Given the description of an element on the screen output the (x, y) to click on. 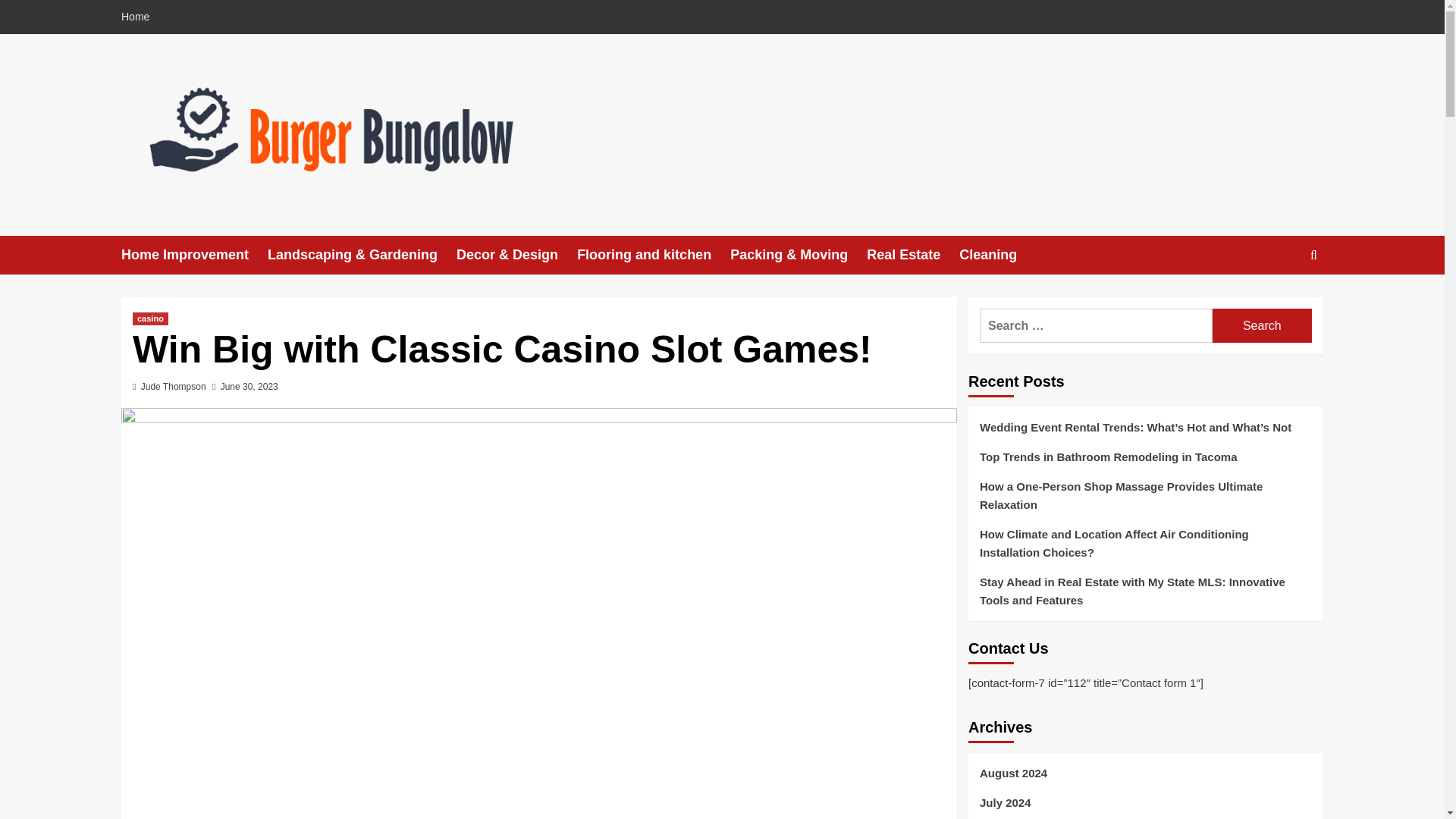
Search (1261, 325)
June 30, 2023 (249, 386)
Search (1261, 325)
Home (138, 17)
Search (1278, 302)
Search (1261, 325)
casino (150, 318)
Home Improvement (193, 254)
Real Estate (912, 254)
Flooring and kitchen (653, 254)
